Given the description of an element on the screen output the (x, y) to click on. 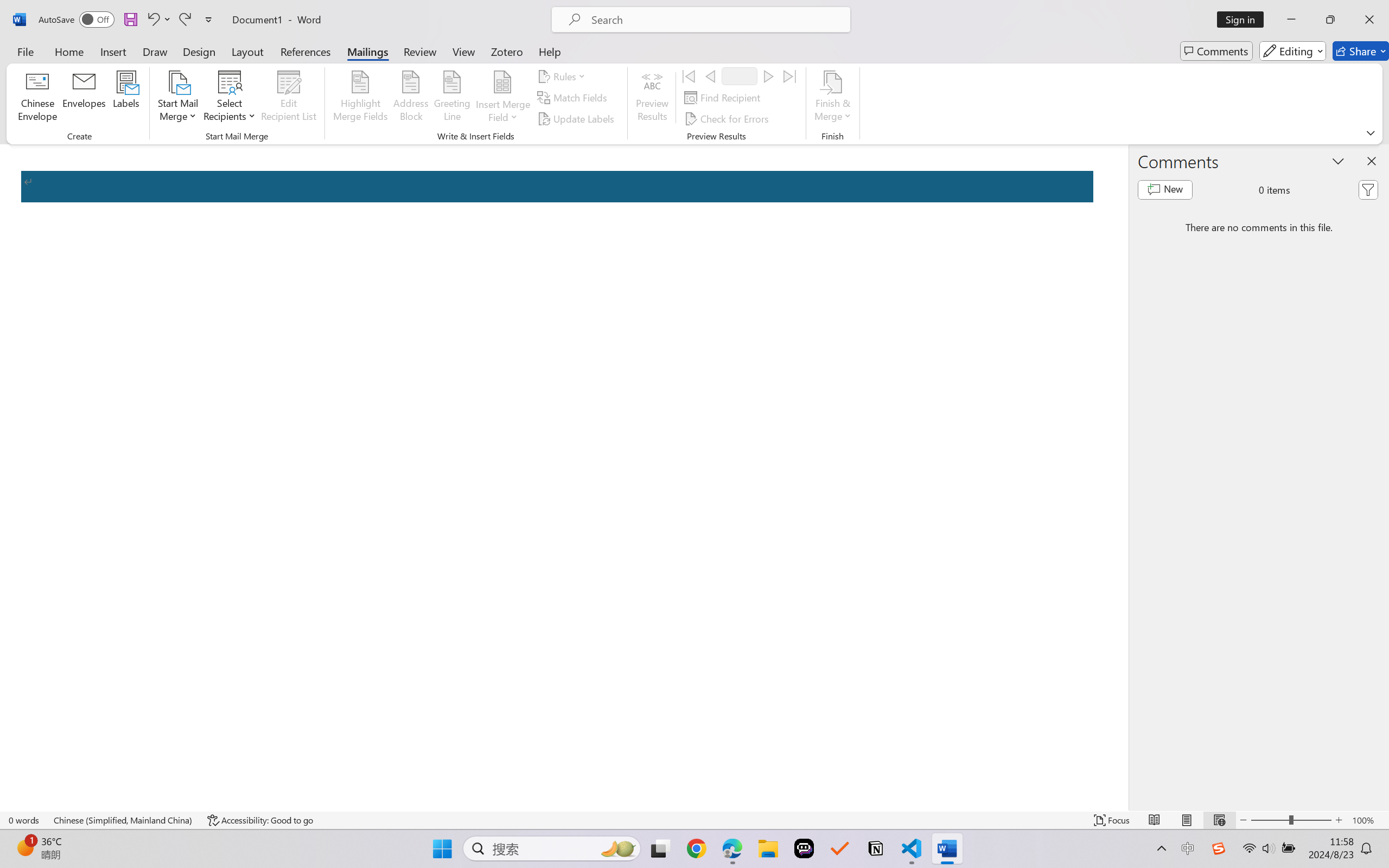
Insert Merge Field (502, 97)
New comment (1165, 189)
Preview Results (652, 97)
Start Mail Merge (177, 97)
Match Fields... (573, 97)
Finish & Merge (832, 97)
Filter (1367, 189)
